Given the description of an element on the screen output the (x, y) to click on. 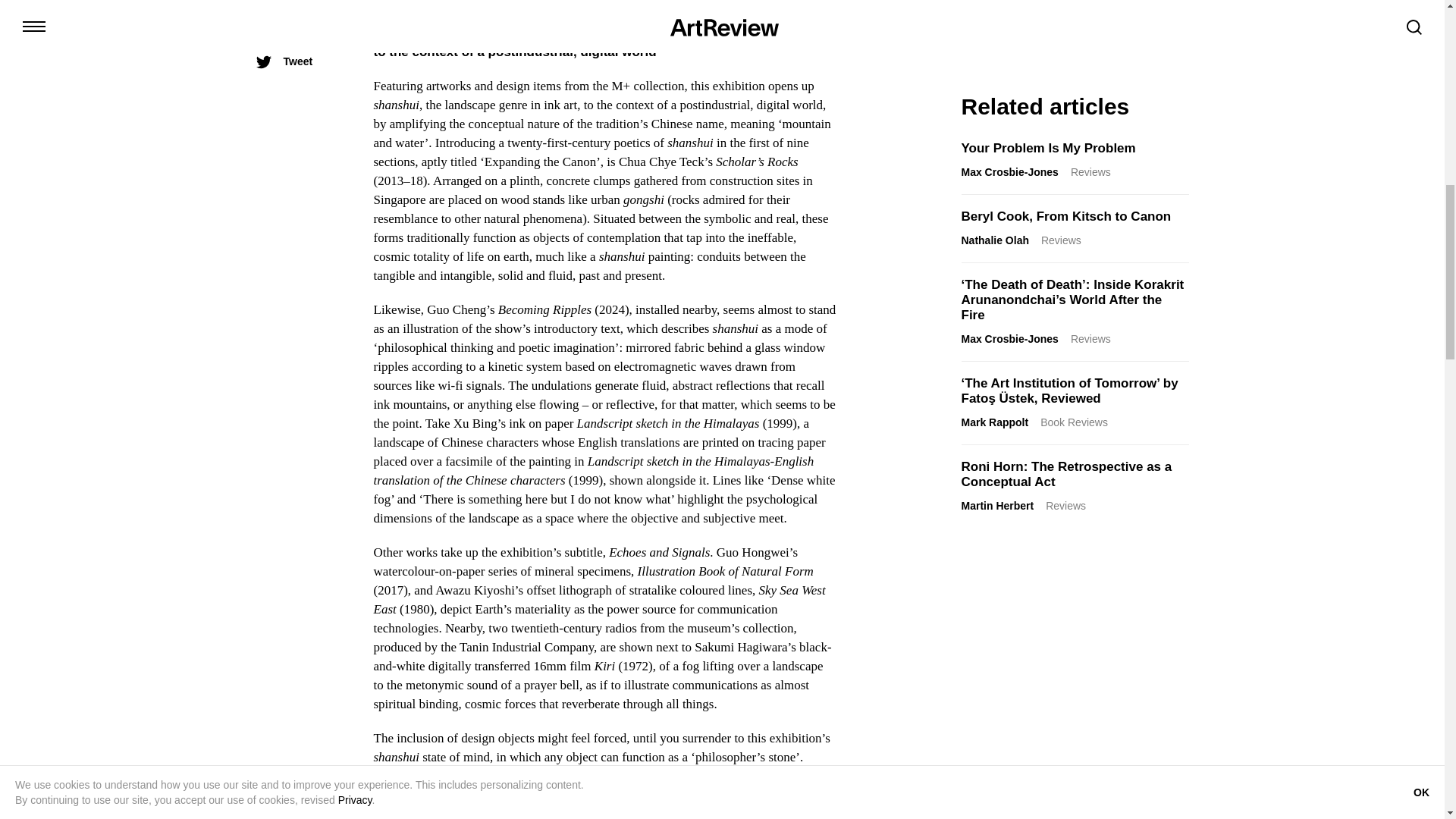
Share (284, 38)
Tweet (284, 60)
Max Crosbie-Jones (1009, 172)
Reviews (1090, 172)
Your Problem Is My Problem (1047, 147)
